Given the description of an element on the screen output the (x, y) to click on. 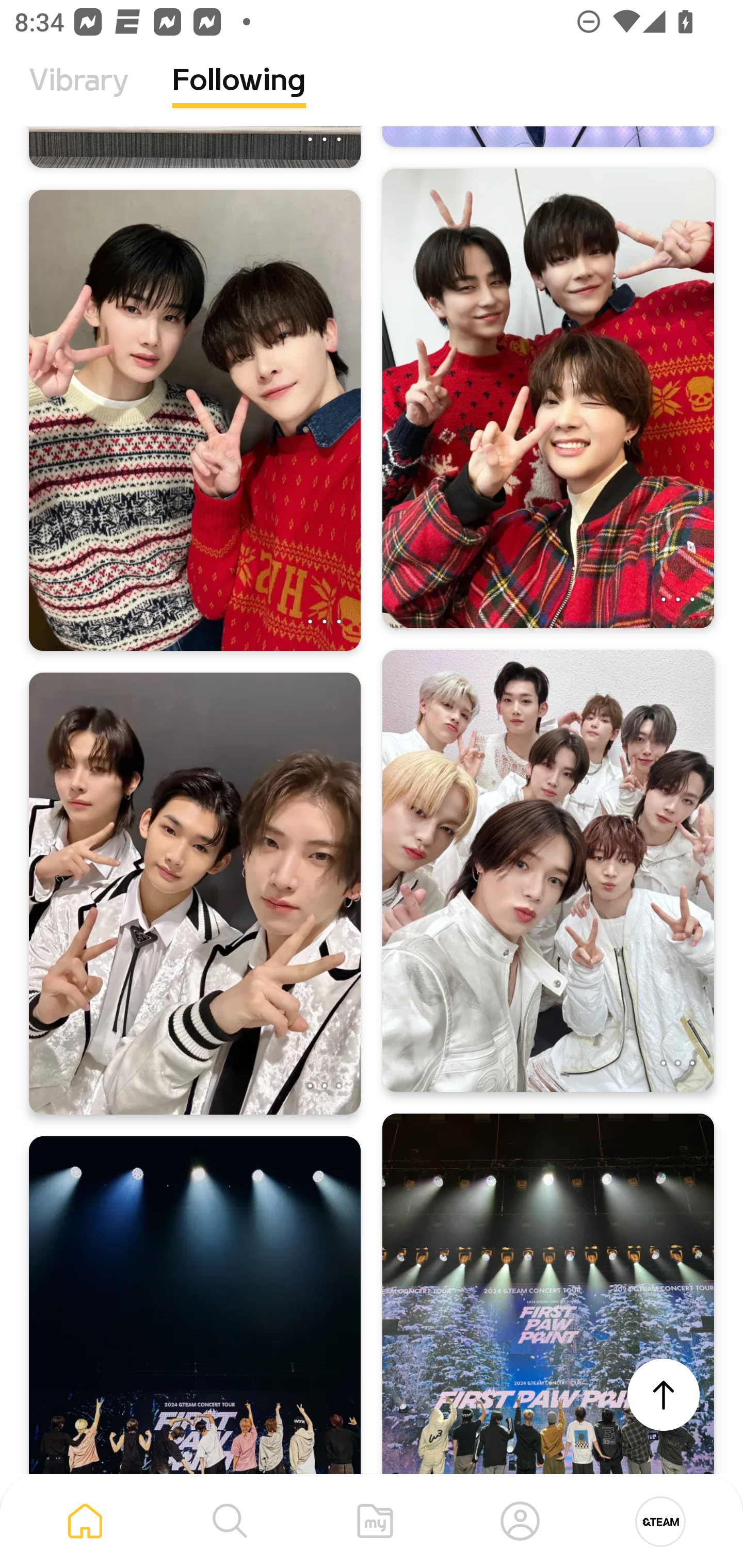
Vibrary (78, 95)
Following (239, 95)
